Given the description of an element on the screen output the (x, y) to click on. 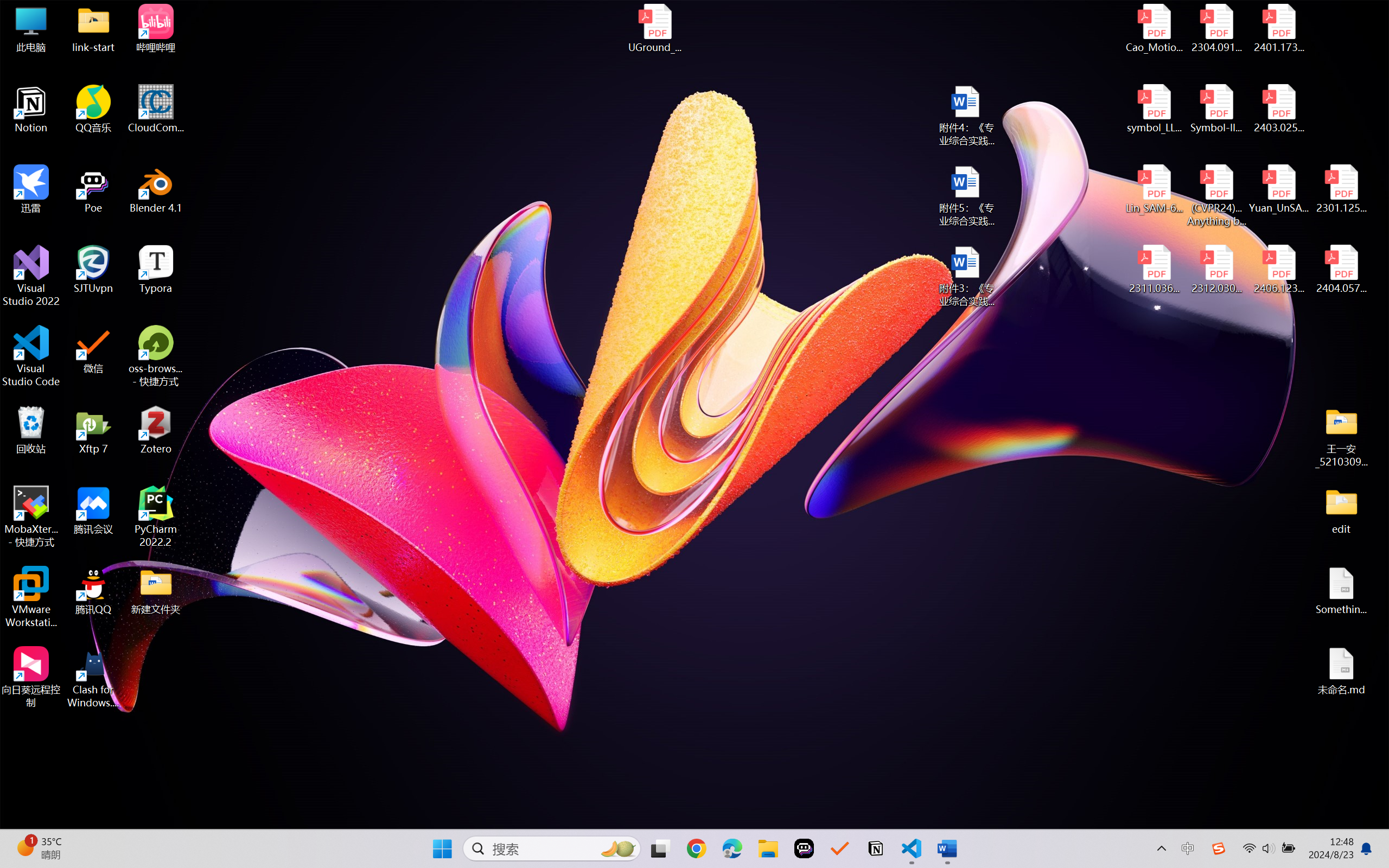
edit (1340, 510)
Typora (156, 269)
VMware Workstation Pro (31, 597)
2401.17399v1.pdf (1278, 28)
